Given the description of an element on the screen output the (x, y) to click on. 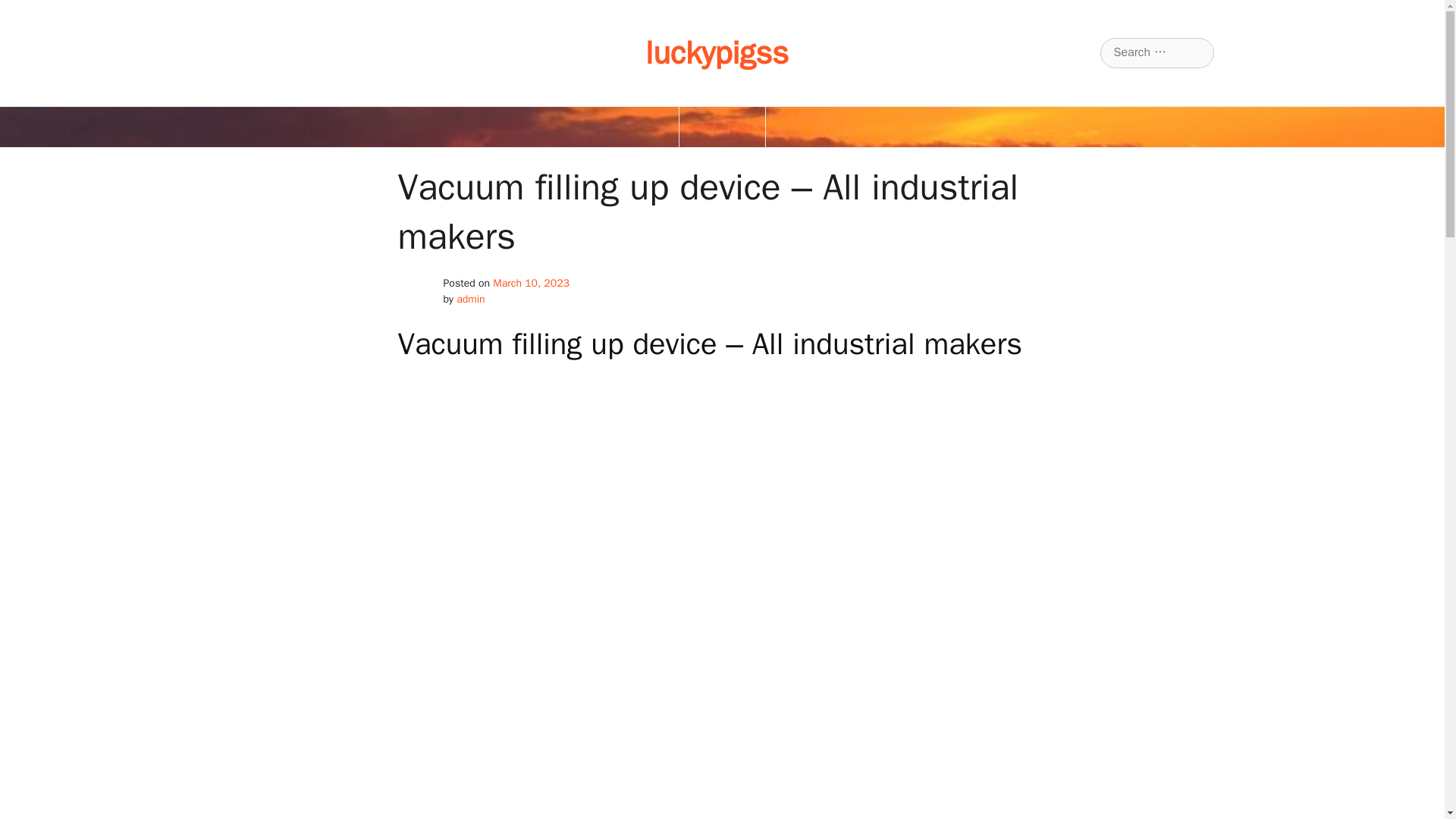
Search (30, 12)
Sample Page (721, 127)
luckypigss (717, 52)
Search (31, 12)
admin (470, 298)
March 10, 2023 (531, 282)
